Given the description of an element on the screen output the (x, y) to click on. 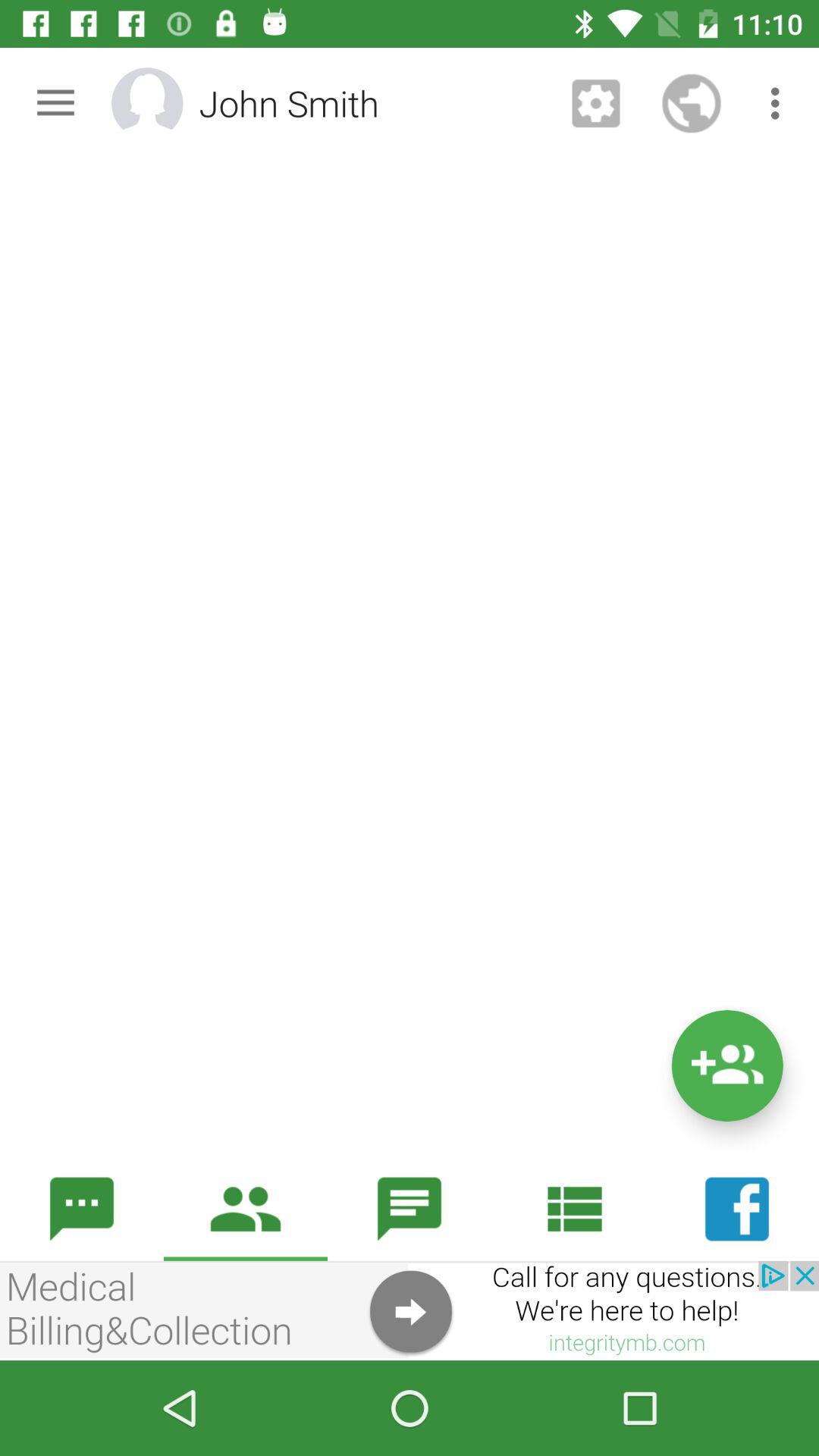
if you click here it would open up john smith 's account (166, 103)
